Given the description of an element on the screen output the (x, y) to click on. 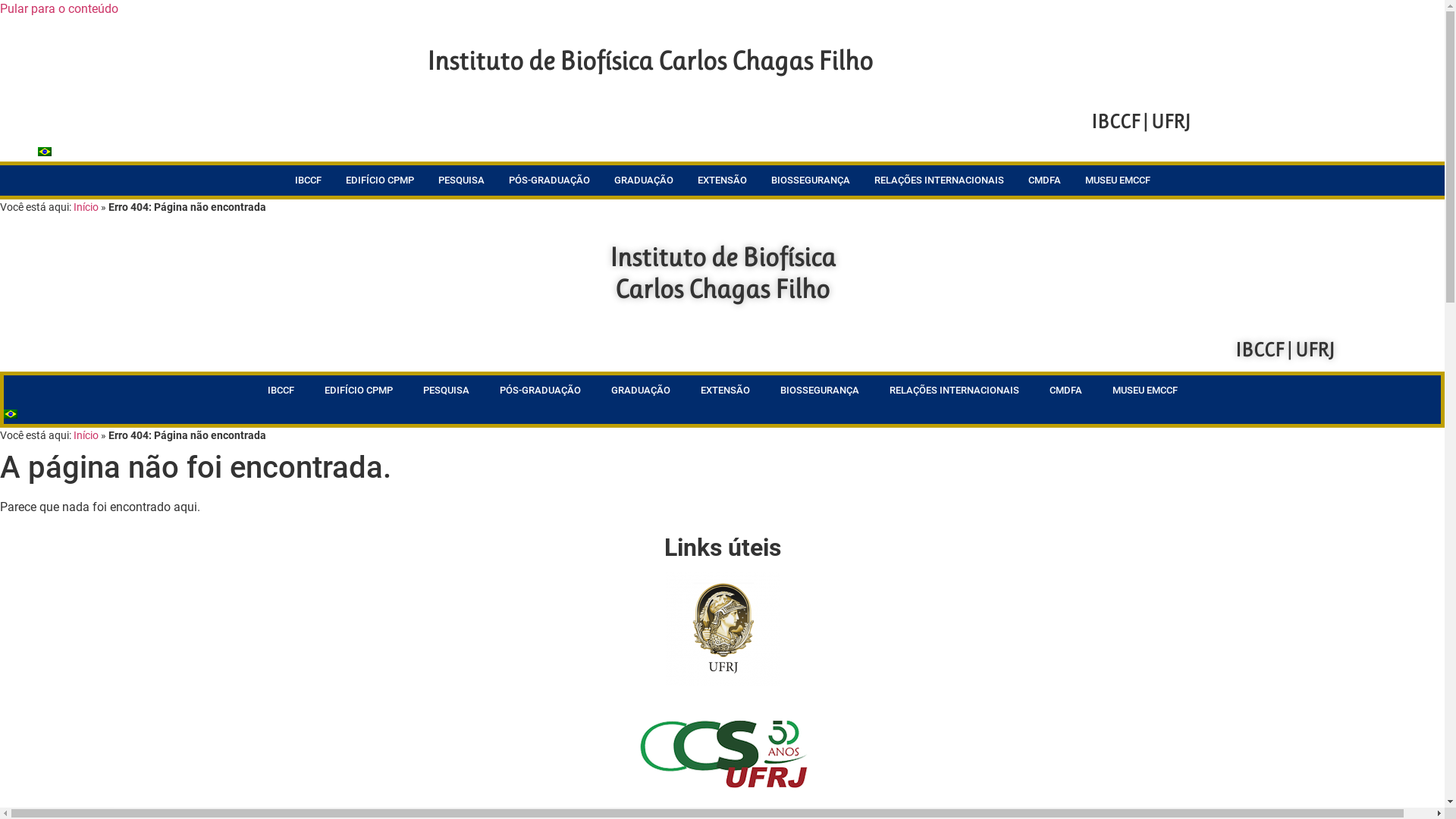
CMDFA Element type: text (1043, 180)
CMDFA Element type: text (1064, 390)
PESQUISA Element type: text (445, 390)
PESQUISA Element type: text (460, 180)
IBCCF Element type: text (308, 180)
MUSEU EMCCF Element type: text (1117, 180)
MUSEU EMCCF Element type: text (1144, 390)
IBCCF Element type: text (280, 390)
